Given the description of an element on the screen output the (x, y) to click on. 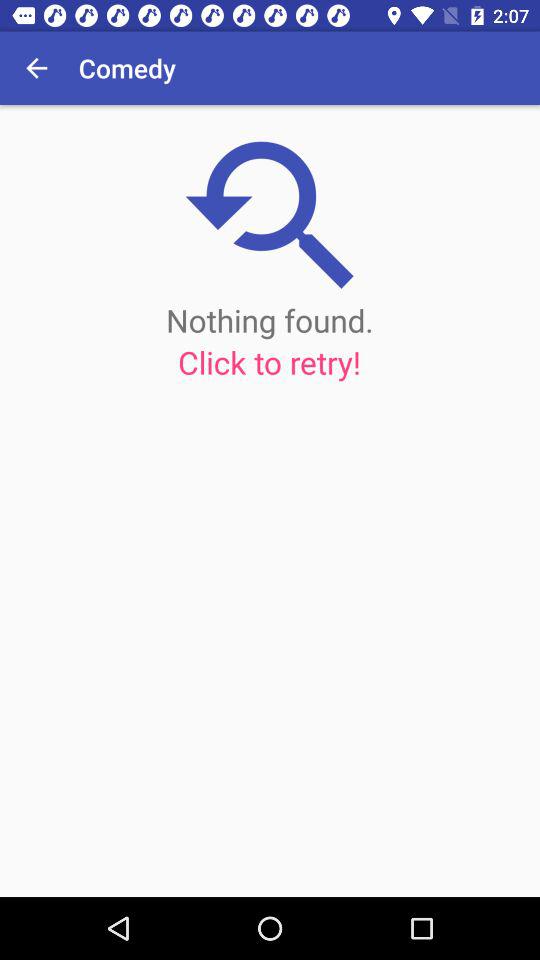
tap icon to the left of comedy icon (36, 68)
